Given the description of an element on the screen output the (x, y) to click on. 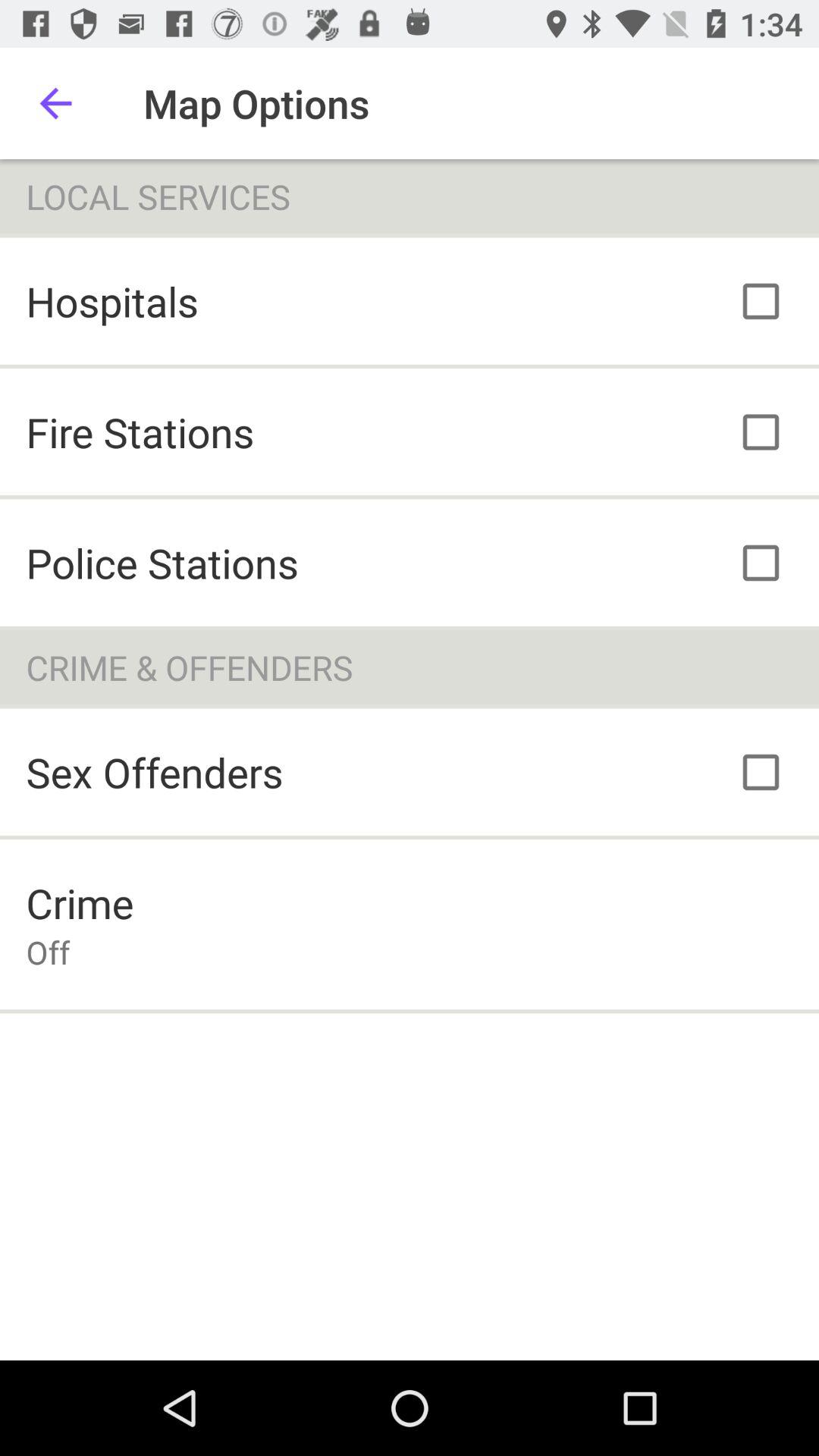
turn on the crime & offenders at the center (409, 667)
